Given the description of an element on the screen output the (x, y) to click on. 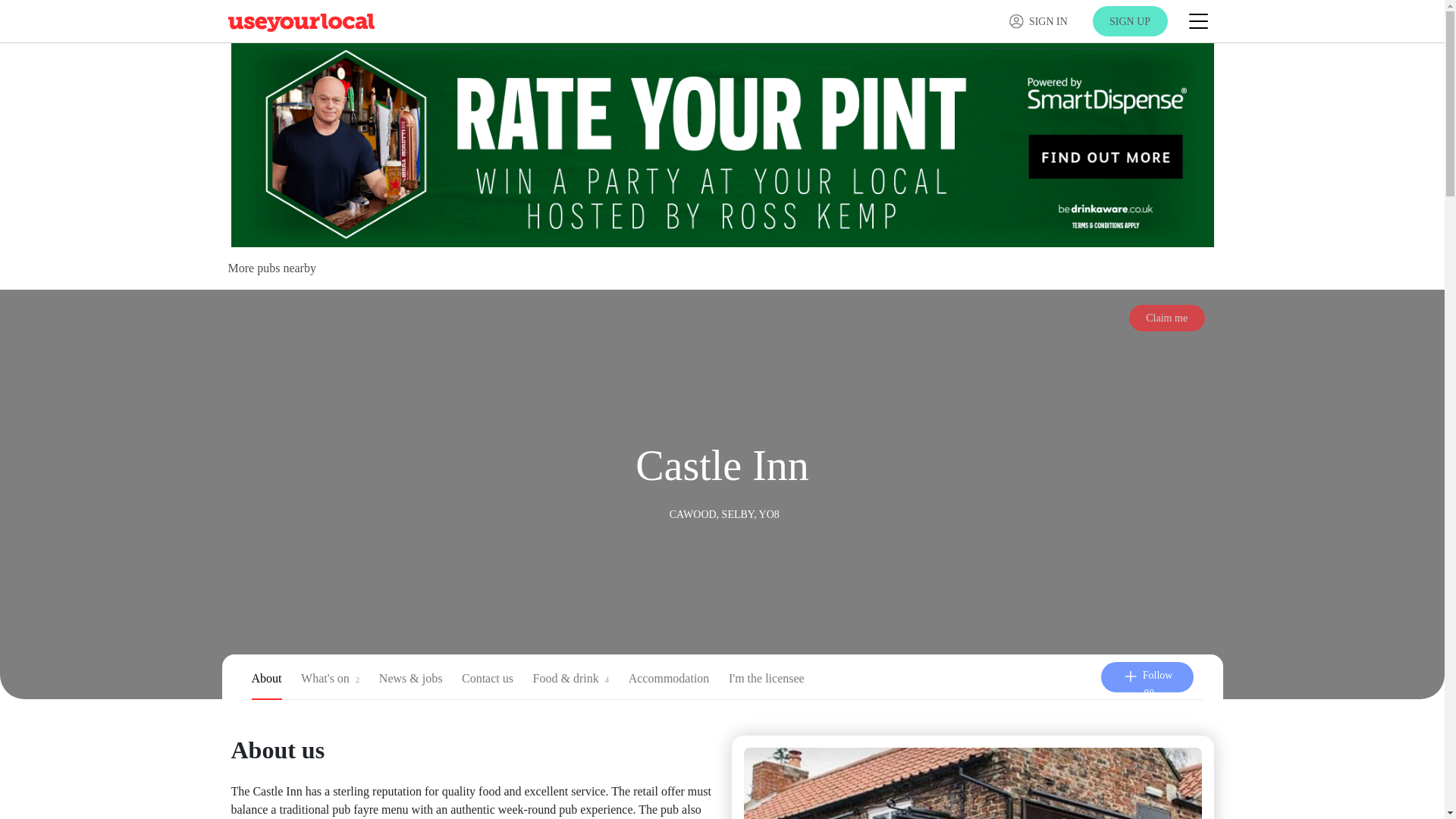
Follow 88 (1146, 675)
SIGN UP (1130, 20)
Contact us (487, 681)
SIGN UP (1129, 20)
What's on 2 (330, 681)
I'm the licensee (767, 681)
SIGN IN (1037, 21)
More pubs nearby (271, 267)
Accommodation (669, 681)
CAWOOD, SELBY, YO8 (723, 513)
